Given the description of an element on the screen output the (x, y) to click on. 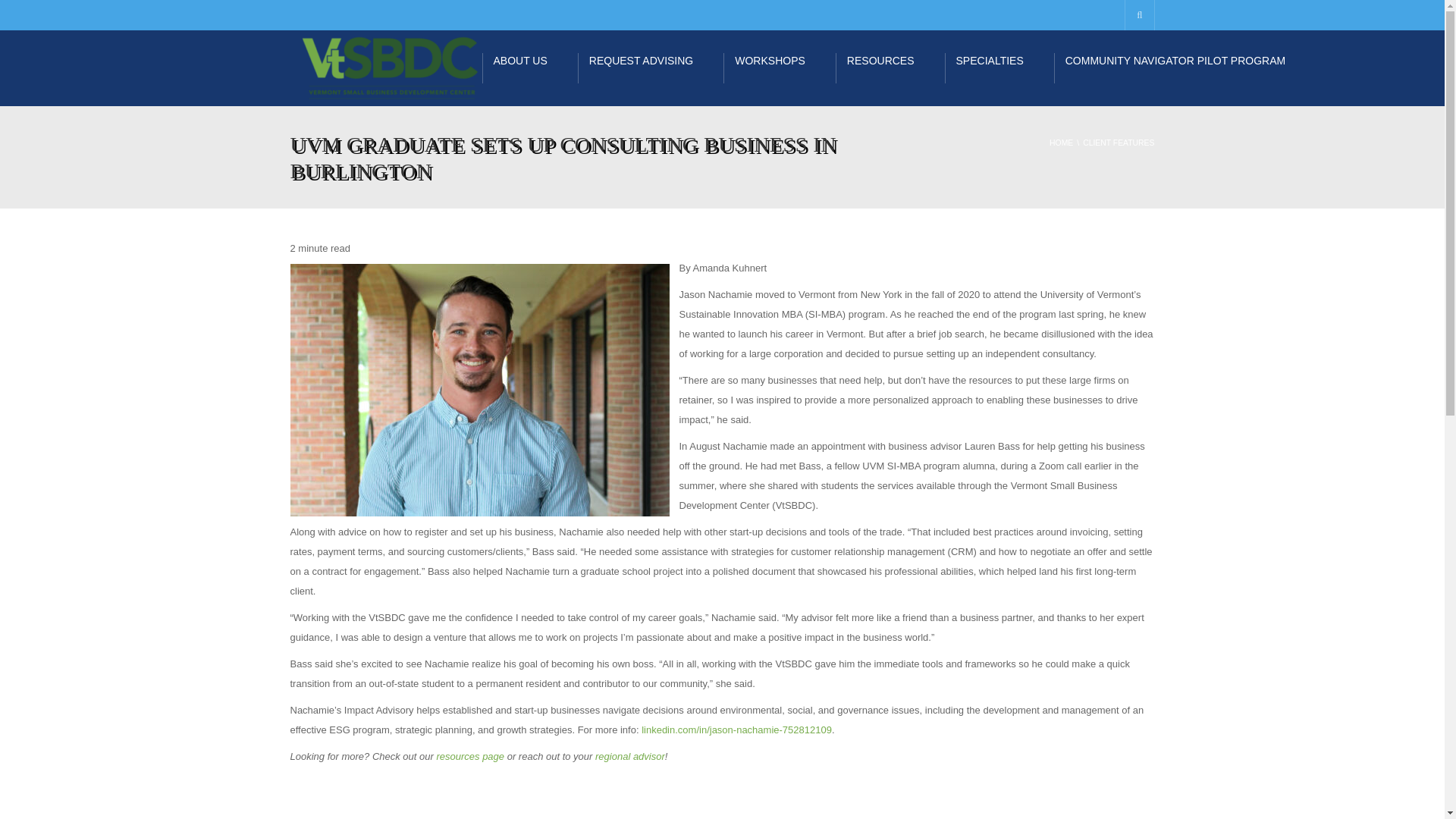
WORKSHOPS (779, 68)
REQUEST ADVISING (650, 68)
RESOURCES (889, 68)
COMMUNITY NAVIGATOR PILOT PROGRAM (1185, 68)
HOME (1061, 142)
SPECIALTIES (999, 68)
ABOUT US (529, 68)
